Given the description of an element on the screen output the (x, y) to click on. 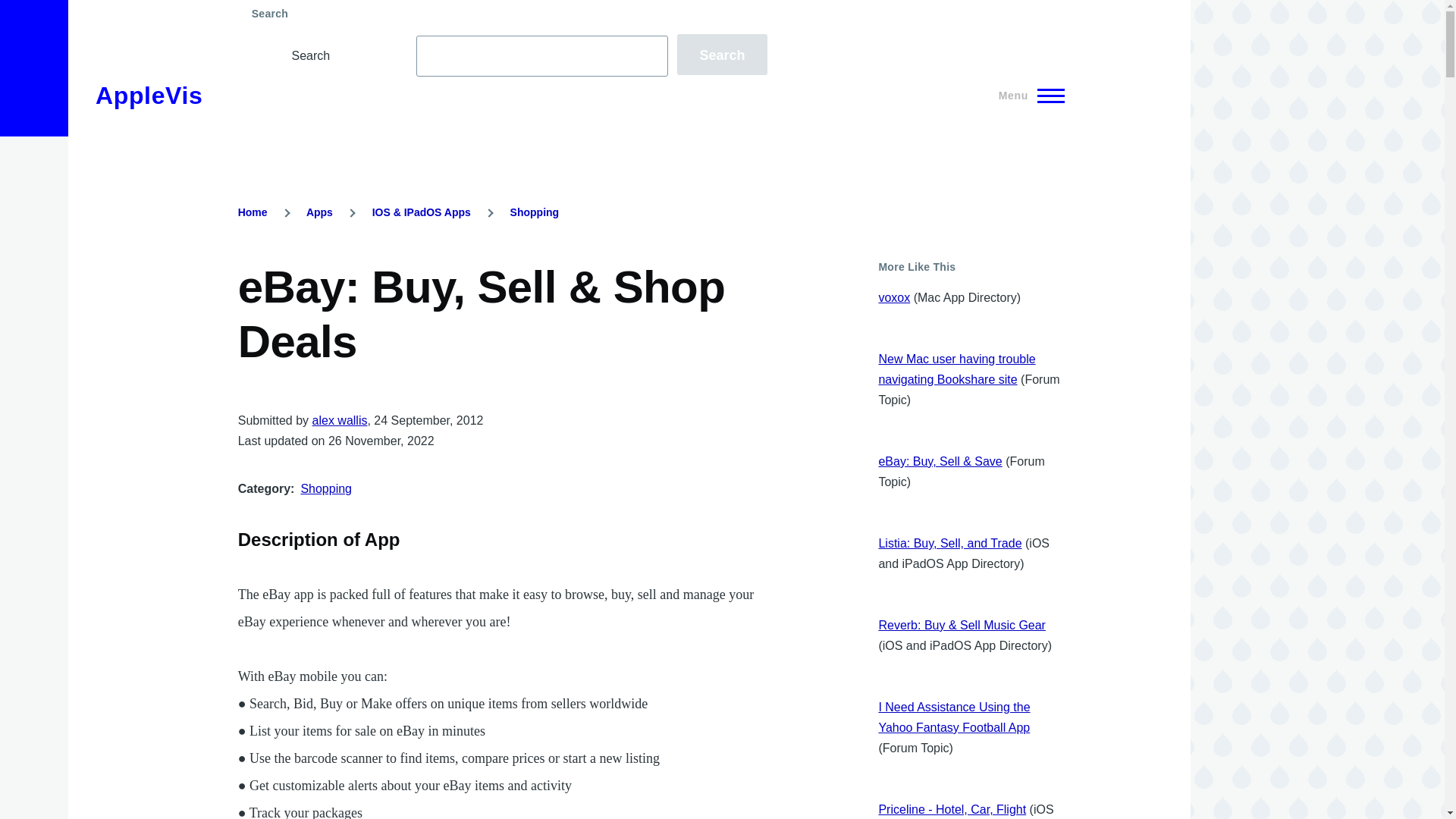
Search (722, 54)
Home (149, 94)
Shopping (325, 488)
Menu (1026, 94)
Home (252, 212)
alex wallis (340, 420)
Skip to main content (595, 6)
Shopping (535, 212)
Apps (319, 212)
AppleVis (149, 94)
Search (722, 54)
